Given the description of an element on the screen output the (x, y) to click on. 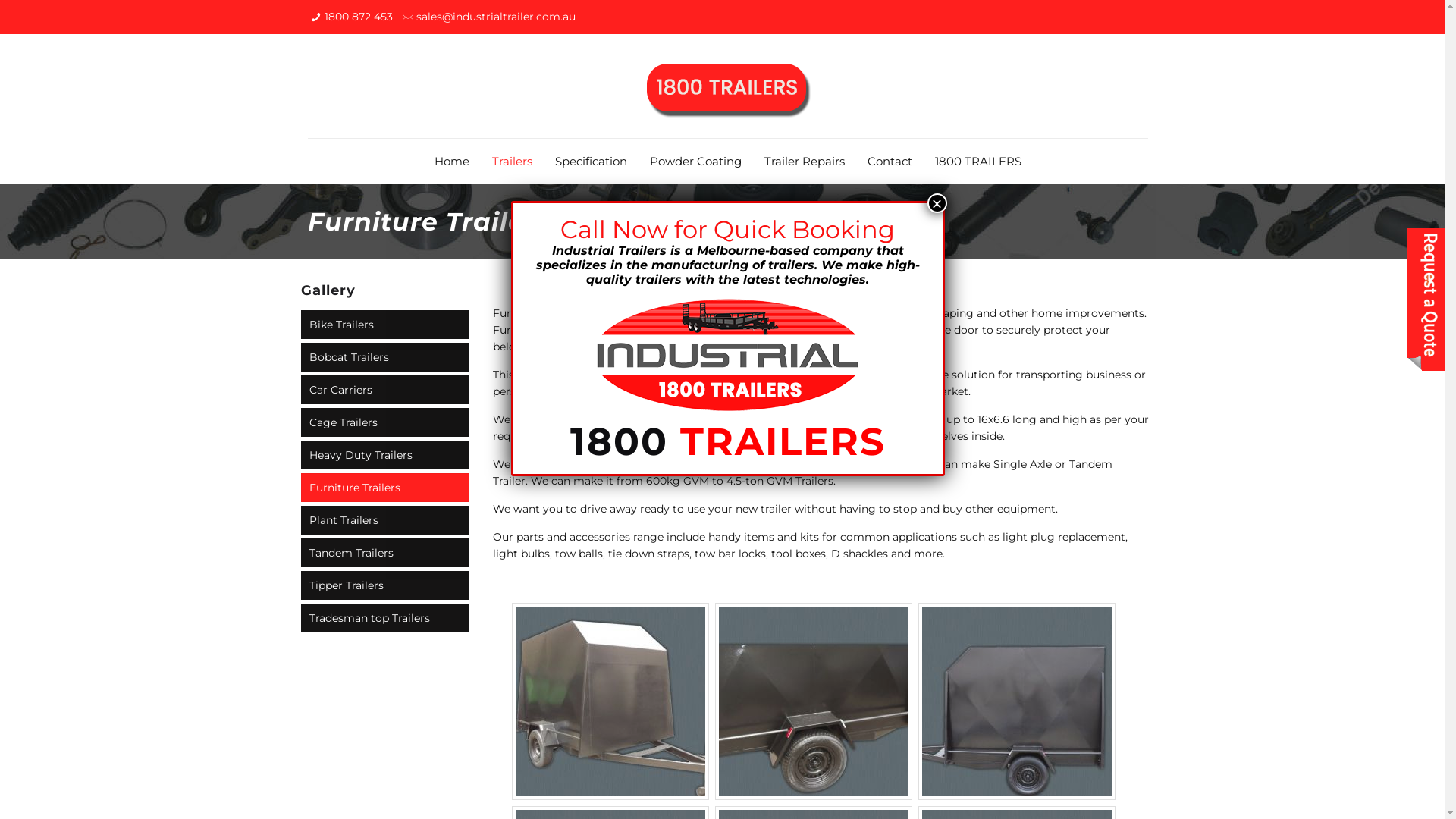
Tipper Trailers Element type: text (384, 585)
Plant Trailers Element type: text (384, 519)
Tradesman top Trailers Element type: text (384, 617)
Home Element type: text (451, 161)
Furniture-Trailers-13018 Element type: hover (1016, 701)
Trailers Element type: text (511, 161)
Tandem Trailers Element type: text (384, 552)
Furniture Trailers Element type: text (384, 487)
Powder Coating Element type: text (695, 161)
sales@industrialtrailer.com.au Element type: text (495, 16)
Cage Trailers Element type: text (384, 421)
Bike Trailers Element type: text (384, 324)
1800 TRAILERS Element type: text (977, 161)
Bobcat Trailers Element type: text (384, 356)
Industrial Trailer Element type: hover (727, 86)
Car Carriers Element type: text (384, 389)
Contact Element type: text (889, 161)
1800 872 453 Element type: text (358, 16)
Specification Element type: text (590, 161)
Furniture-Trailers-13016 Element type: hover (813, 701)
Heavy Duty Trailers Element type: text (384, 454)
1800 TRAILERS Element type: text (727, 441)
Furniture-Trailers-13015 Element type: hover (610, 701)
Trailer Repairs Element type: text (804, 161)
